Given the description of an element on the screen output the (x, y) to click on. 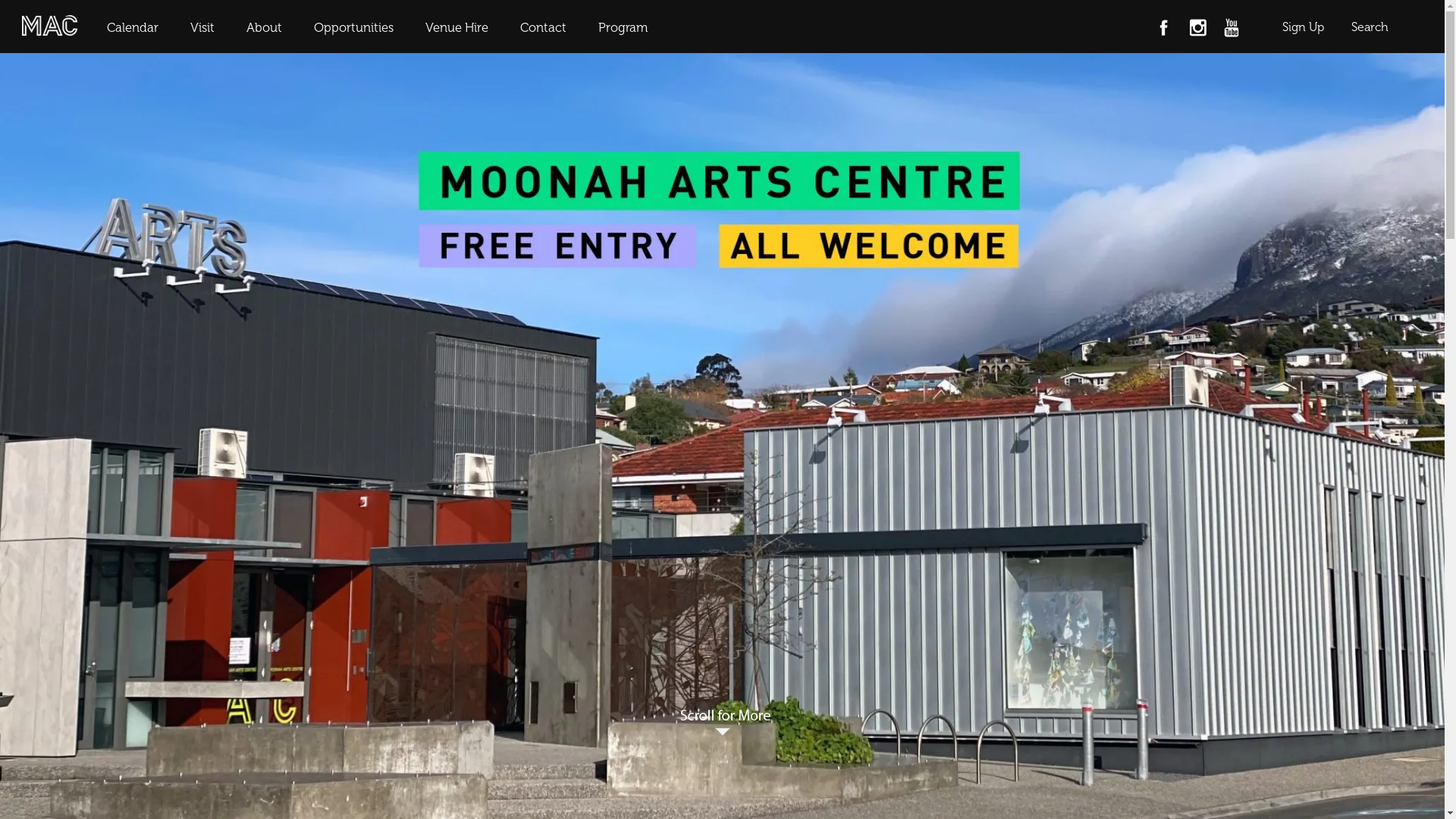
Search Element type: text (1369, 26)
Sign Up Element type: text (1302, 26)
Venue Hire Element type: text (456, 27)
Opportunities Element type: text (353, 27)
About Element type: text (263, 27)
Visit Element type: text (202, 27)
Calendar Element type: text (132, 27)
Contact Element type: text (543, 27)
Program Element type: text (622, 27)
